Given the description of an element on the screen output the (x, y) to click on. 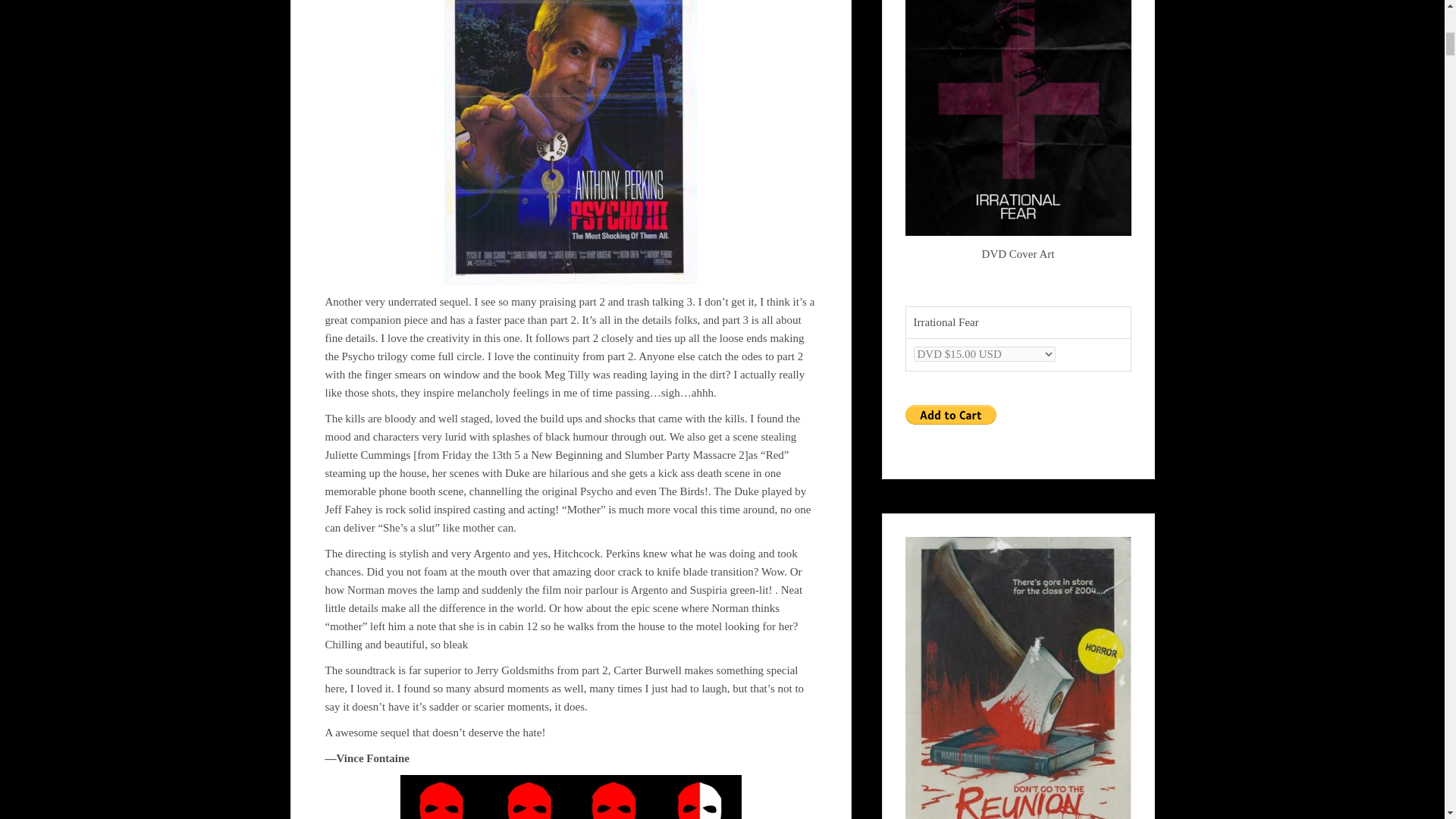
3.5 (570, 796)
